Given the description of an element on the screen output the (x, y) to click on. 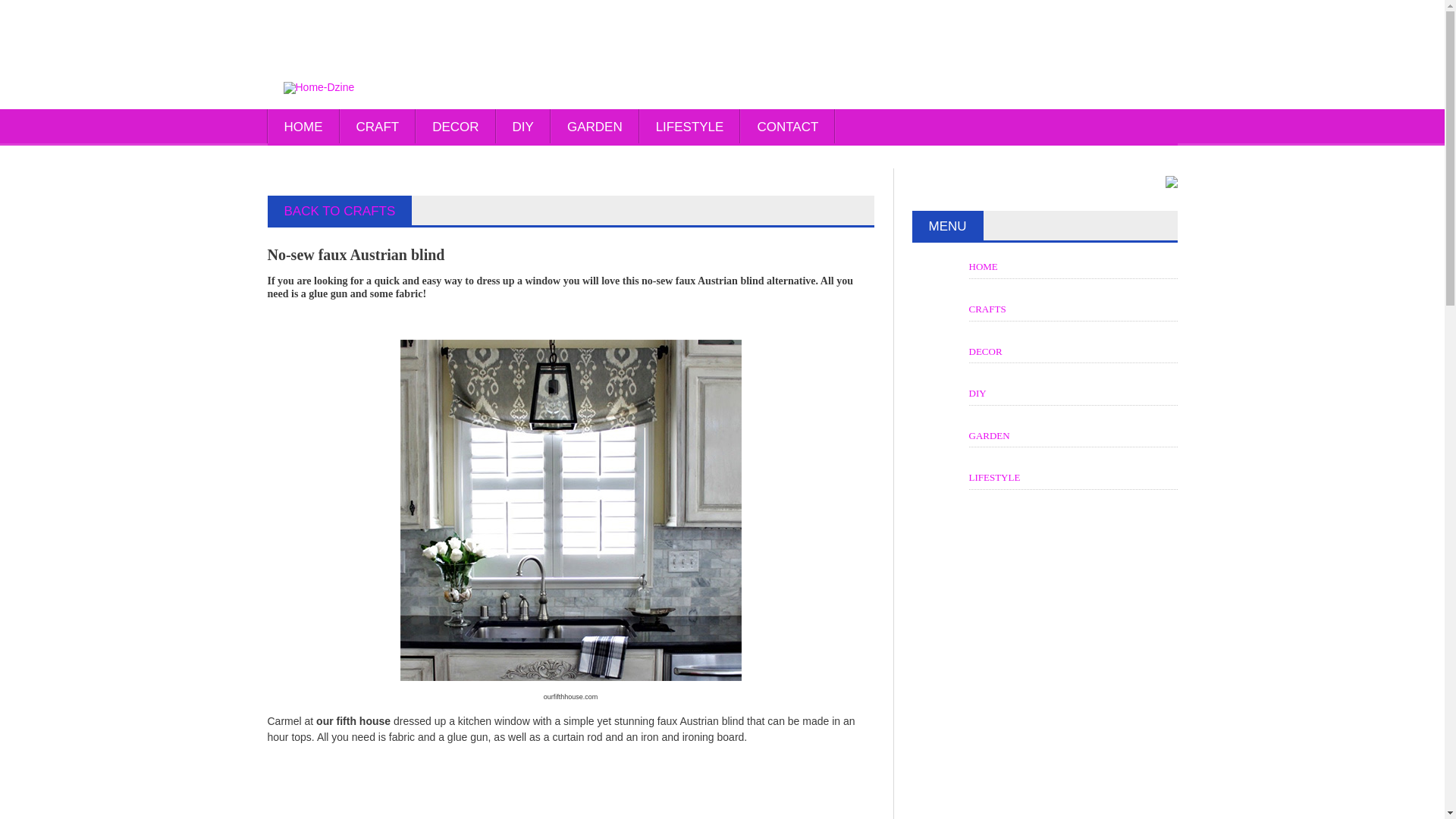
DIY (523, 126)
DECOR (986, 351)
CRAFTS (987, 308)
GARDEN (989, 435)
HOME (302, 126)
HOME (983, 266)
DECOR (454, 126)
BACK TO CRAFTS (338, 210)
CONTACT (786, 126)
GARDEN (594, 126)
